Given the description of an element on the screen output the (x, y) to click on. 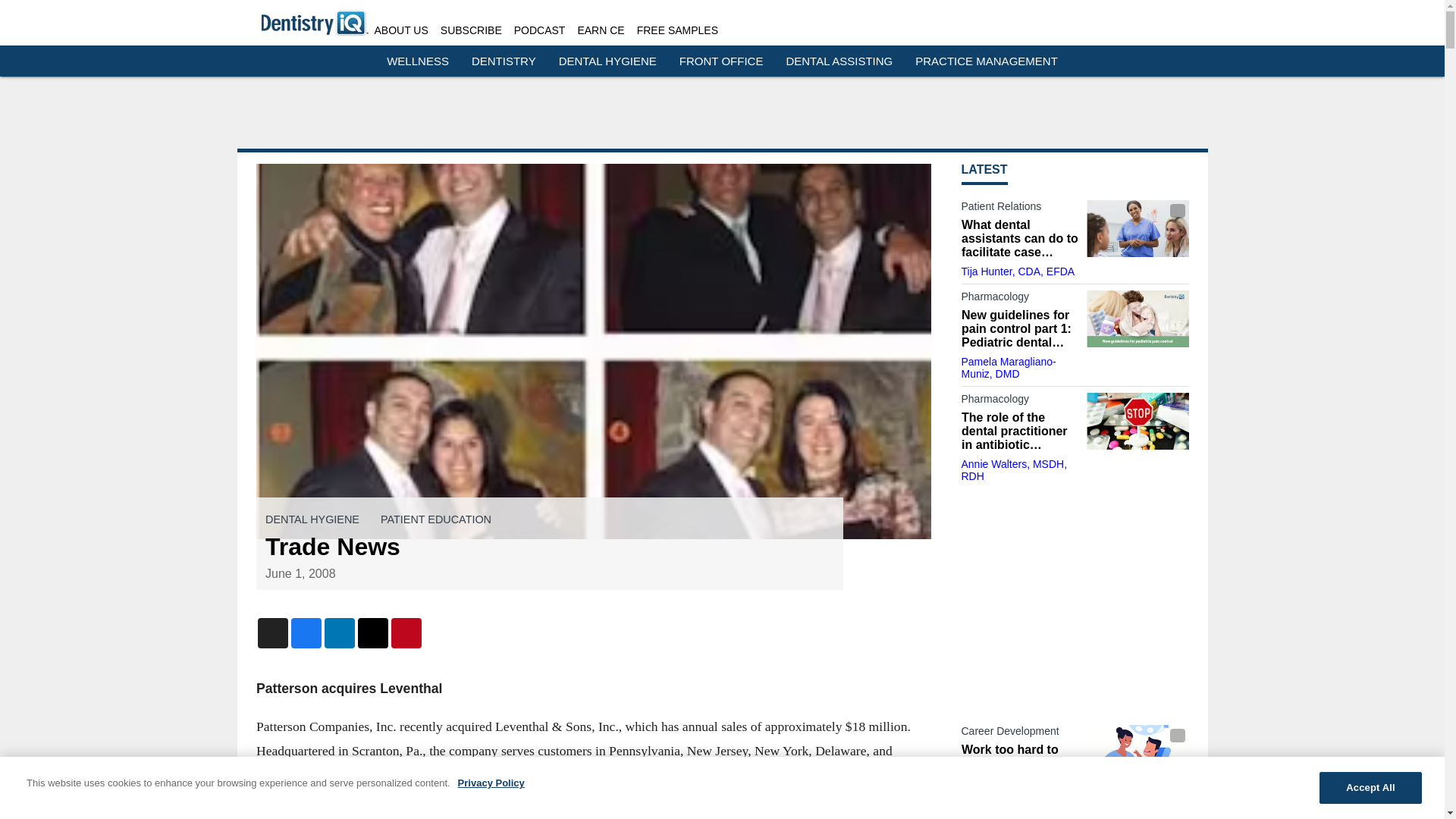
EARN CE (600, 30)
DENTAL ASSISTING (839, 60)
PRACTICE MANAGEMENT (986, 60)
DENTAL HYGIENE (311, 519)
FREE SAMPLES (677, 30)
Pharmacology (1019, 402)
SUBSCRIBE (471, 30)
WELLNESS (417, 60)
PATIENT EDUCATION (435, 519)
Annie Walters, MSDH, RDH (1013, 469)
Pamela Maragliano-Muniz, DMD (1008, 367)
ABOUT US (401, 30)
FRONT OFFICE (720, 60)
